Given the description of an element on the screen output the (x, y) to click on. 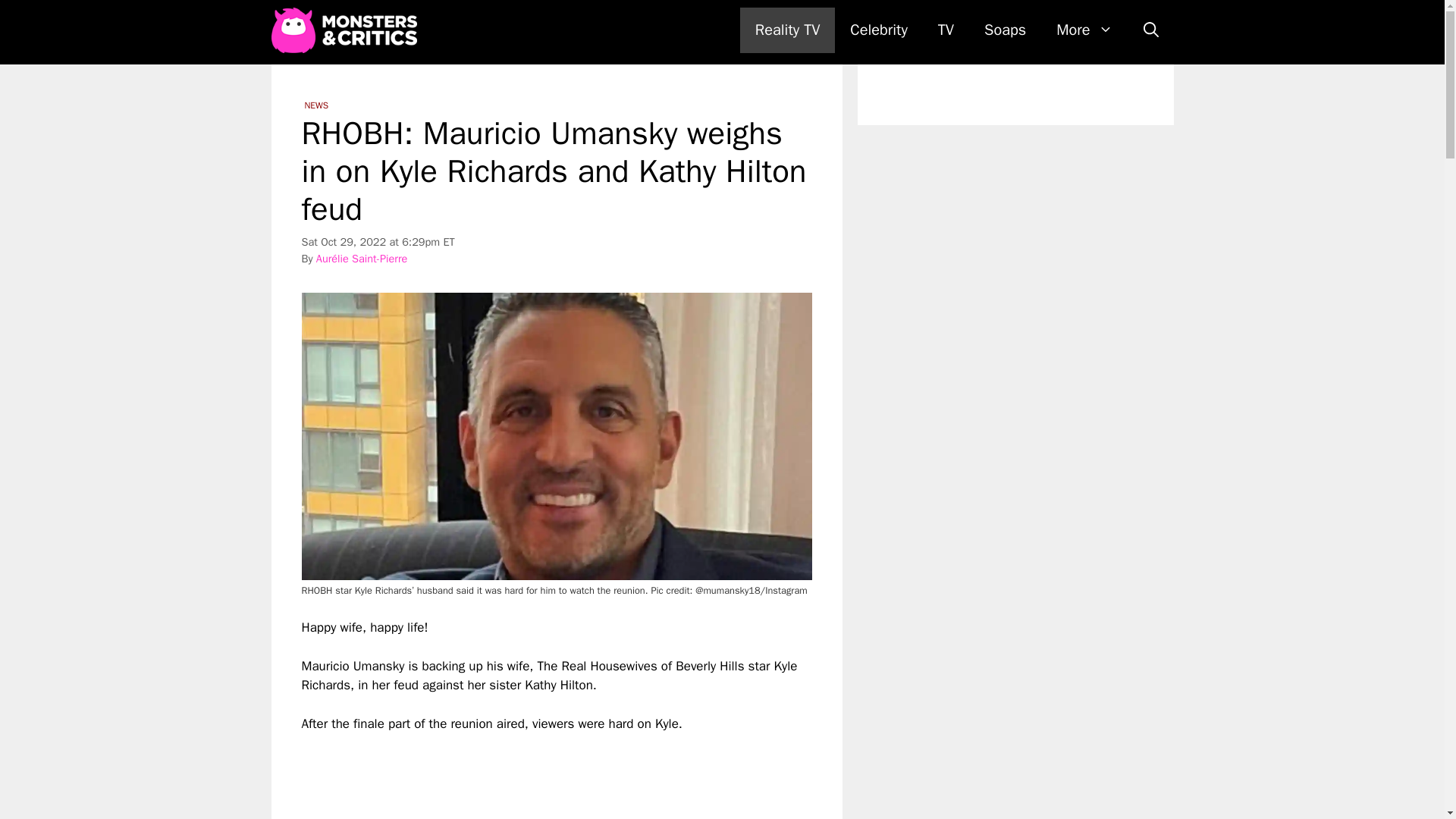
Monsters and Critics (343, 30)
More (1083, 30)
YouTube video player (513, 776)
Reality TV (787, 30)
Monsters and Critics (347, 30)
TV (946, 30)
Celebrity (877, 30)
Soaps (1005, 30)
